Given the description of an element on the screen output the (x, y) to click on. 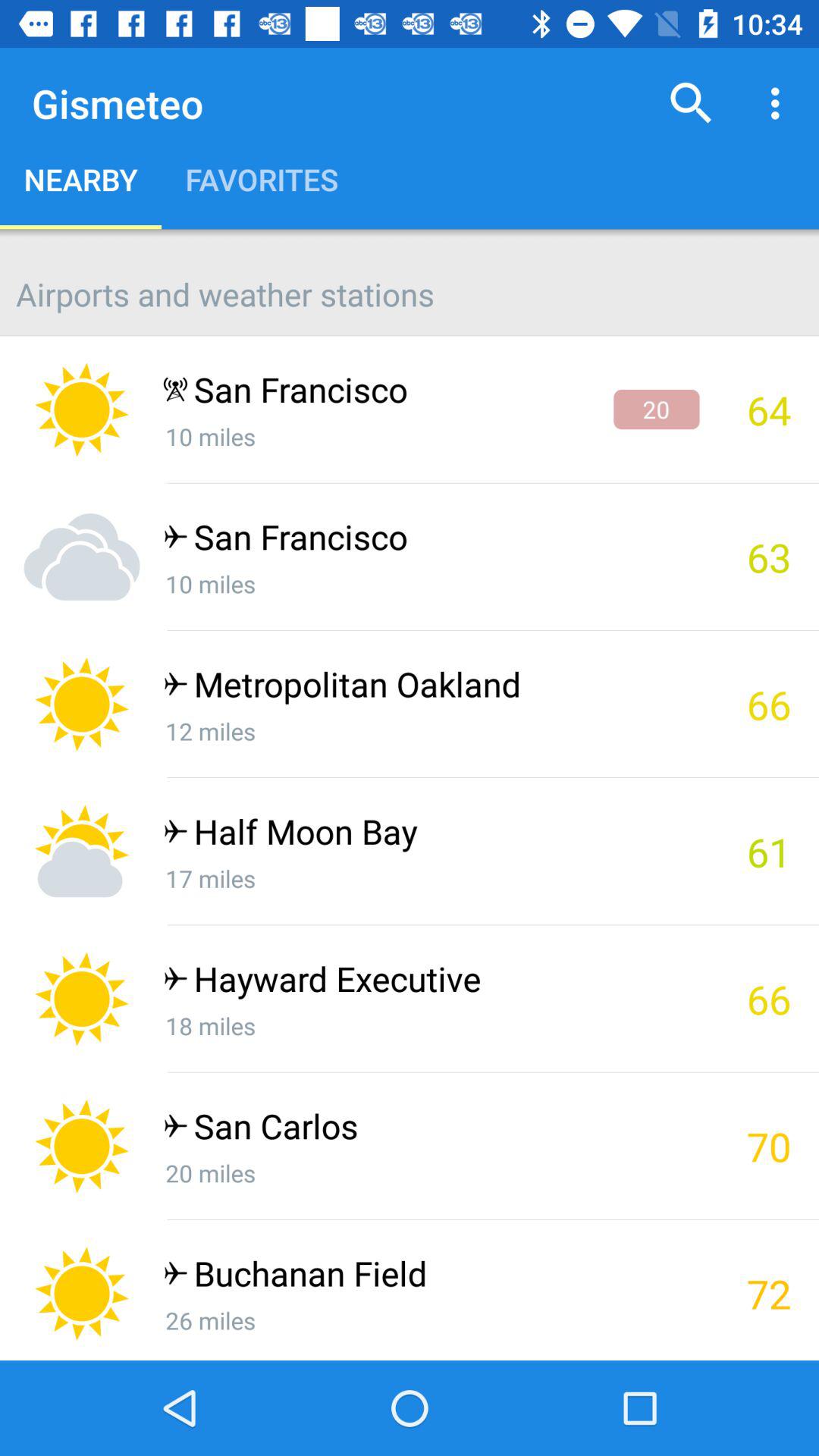
click the airports and weather app (409, 282)
